Given the description of an element on the screen output the (x, y) to click on. 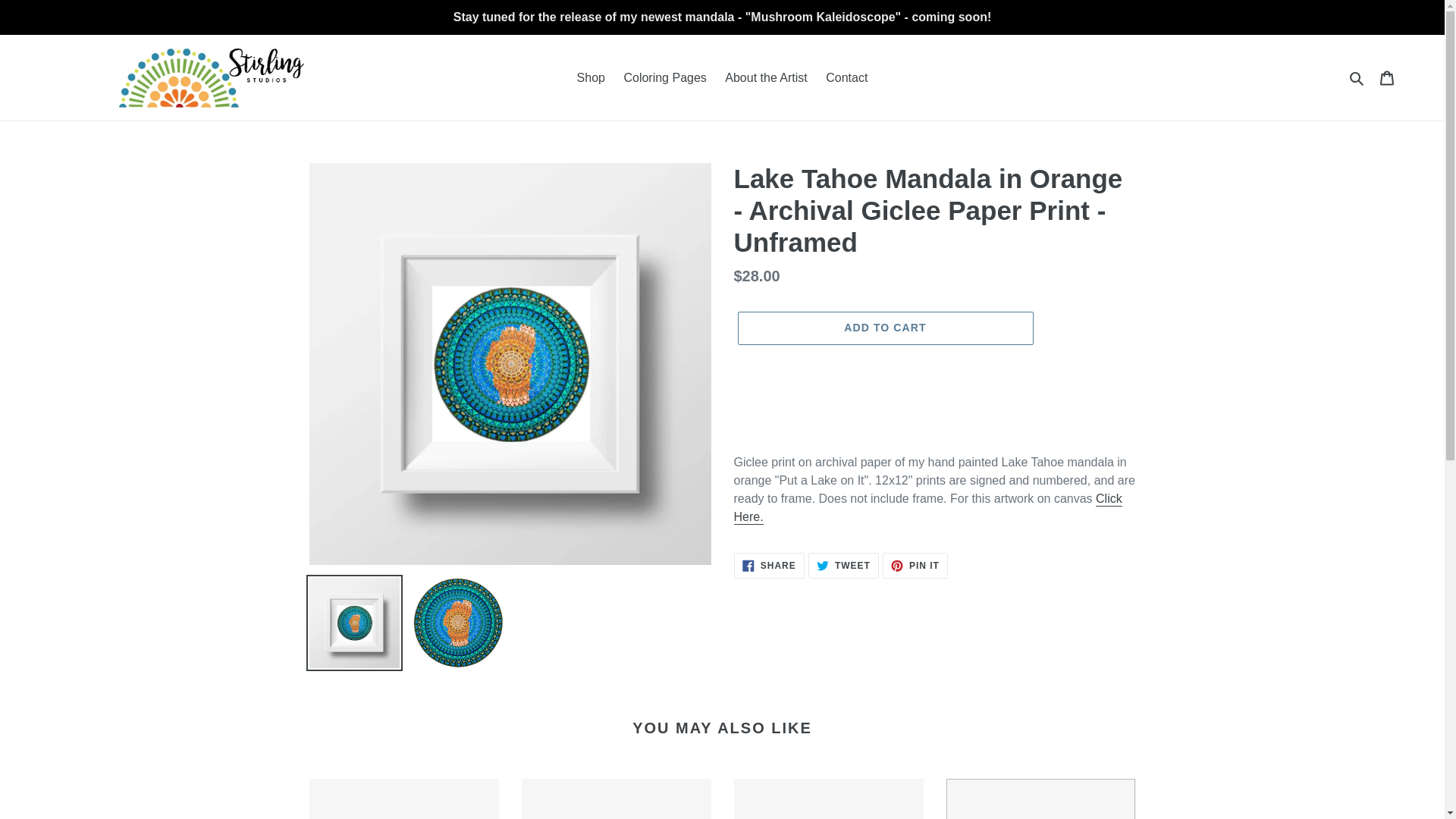
Oh Hey, Bear! - Hand Stretched Canvas Print (403, 798)
ADD TO CART (769, 565)
Shop (884, 328)
Coloring Pages (914, 565)
Click Here. (590, 77)
About the Artist (664, 77)
Search (927, 508)
Cart (766, 77)
